Given the description of an element on the screen output the (x, y) to click on. 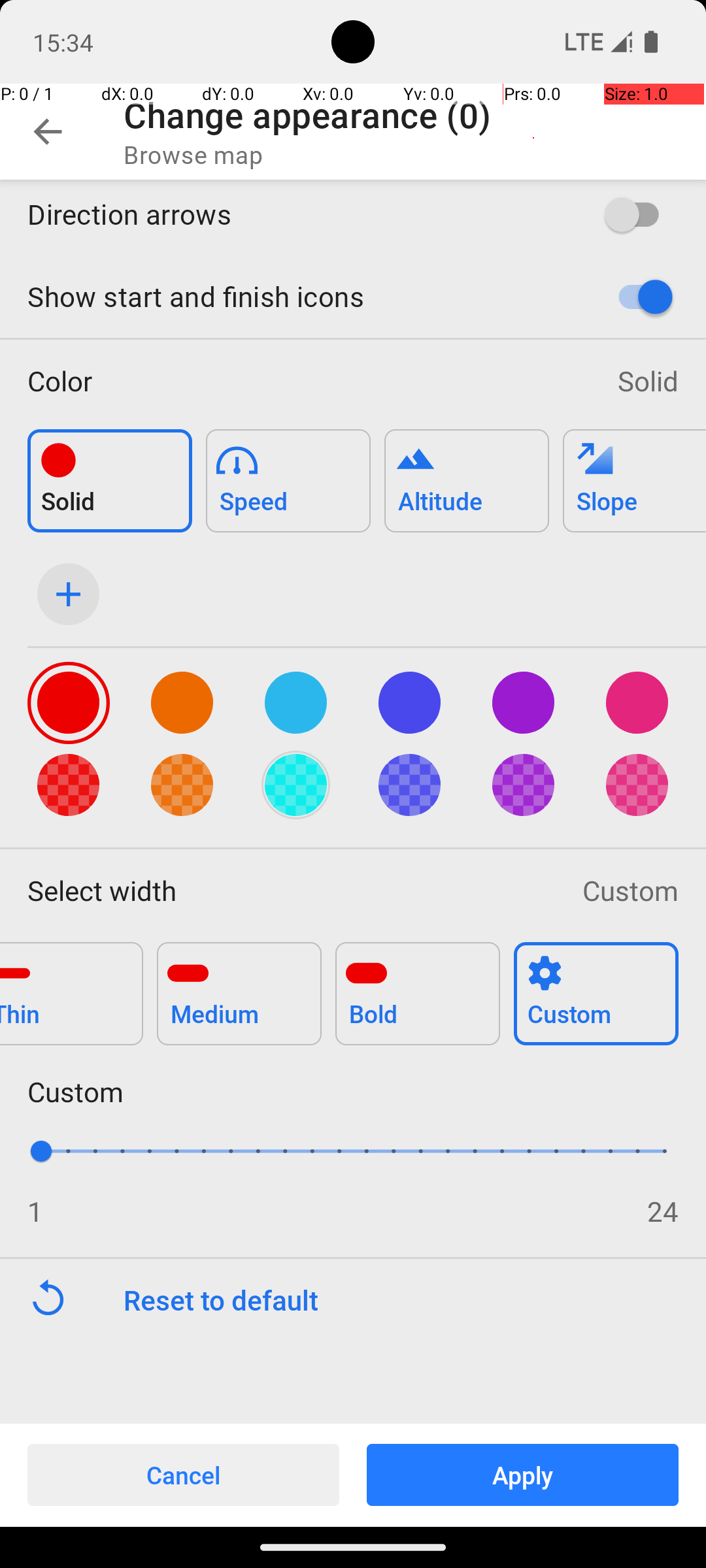
Change appearance (0) Element type: android.widget.TextView (307, 114)
Browse map Element type: android.widget.TextView (193, 154)
Solid Element type: android.widget.TextView (647, 380)
Select width Element type: android.widget.TextView (290, 889)
Custom Element type: android.widget.TextView (630, 889)
Direction arrows Element type: android.widget.TextView (297, 213)
Show start and finish icons Element type: android.widget.TextView (297, 295)
Value, 1 Element type: android.widget.SeekBar (54, 1151)
Reset to default Element type: android.widget.TextView (414, 1299)
Add to group Element type: android.widget.ImageView (109, 480)
Speed Element type: android.widget.TextView (287, 473)
Altitude Element type: android.widget.TextView (466, 473)
Slope Element type: android.widget.TextView (634, 473)
Thin Element type: android.widget.TextView (71, 986)
Medium Element type: android.widget.TextView (238, 986)
